Given the description of an element on the screen output the (x, y) to click on. 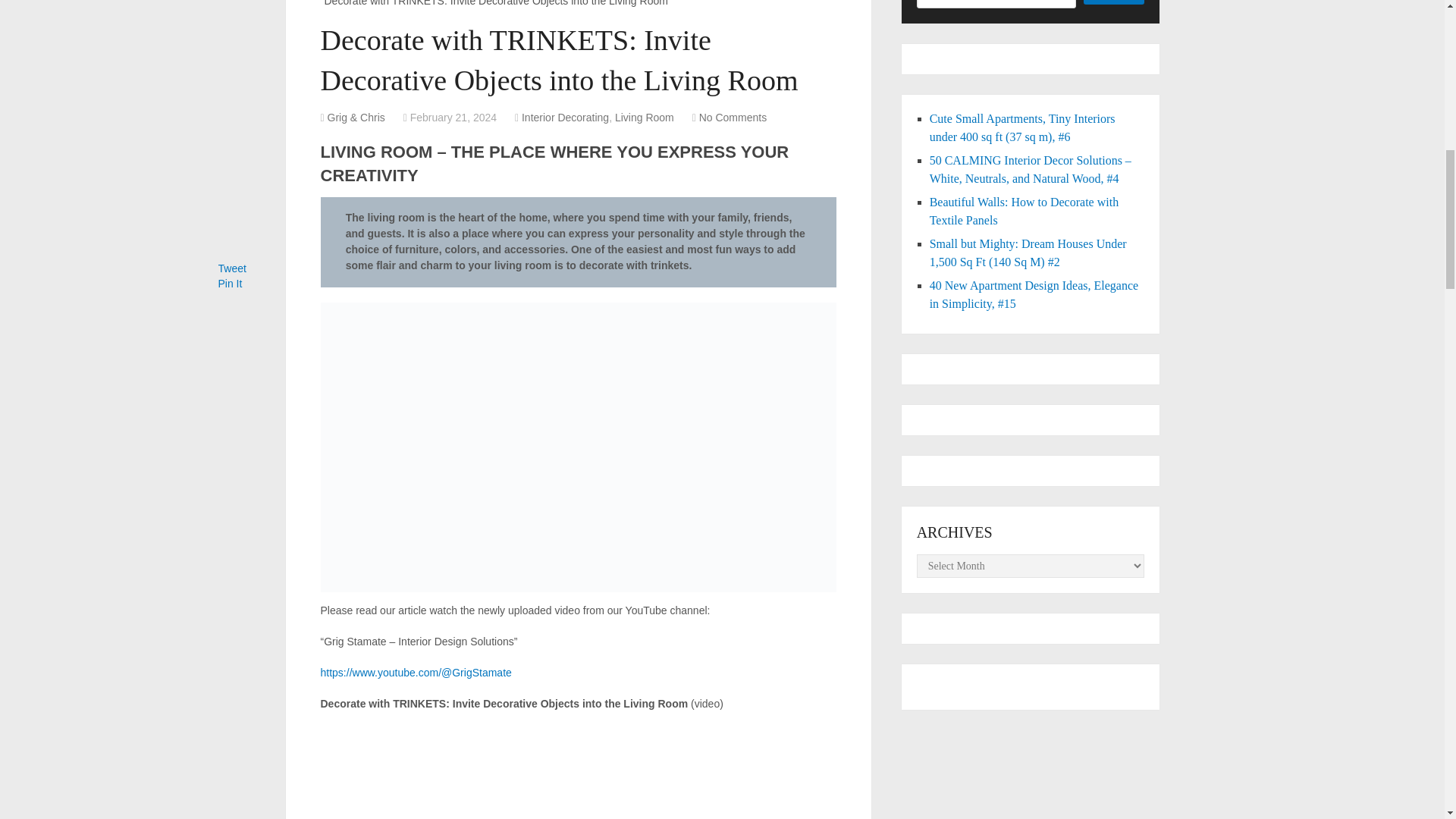
View all posts in Interior Decorating (564, 117)
View all posts in Living Room (644, 117)
